Given the description of an element on the screen output the (x, y) to click on. 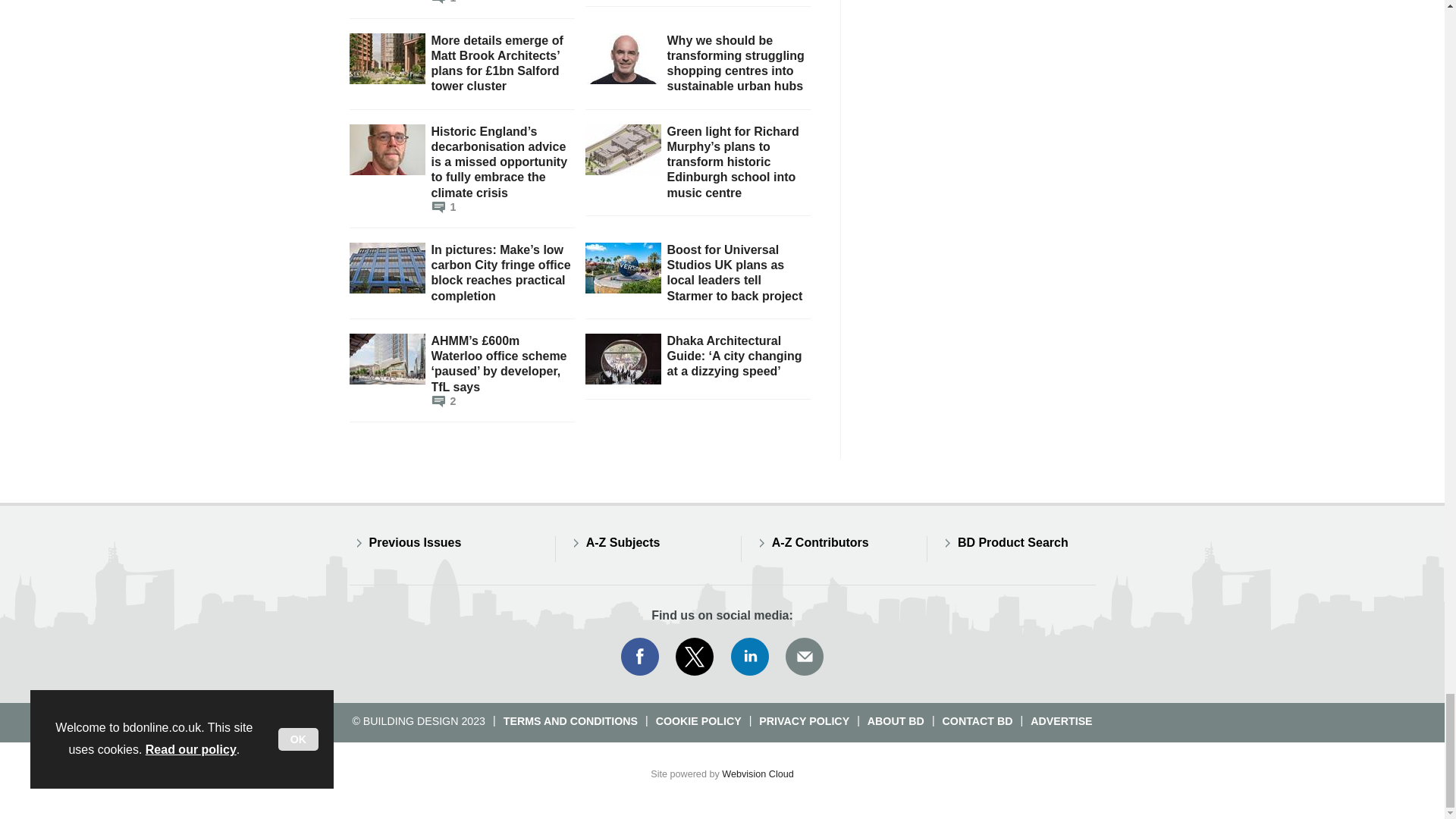
Email us (804, 656)
Connect with us on Facebook (639, 656)
Connect with us on Twitter (694, 656)
Connect with us on Linked in (750, 656)
